Given the description of an element on the screen output the (x, y) to click on. 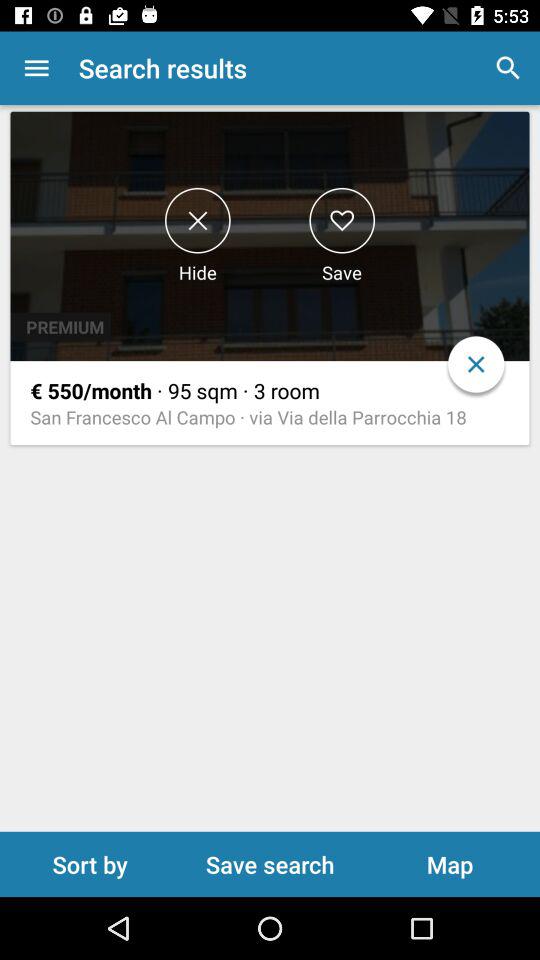
select item at the top right corner (508, 67)
